Given the description of an element on the screen output the (x, y) to click on. 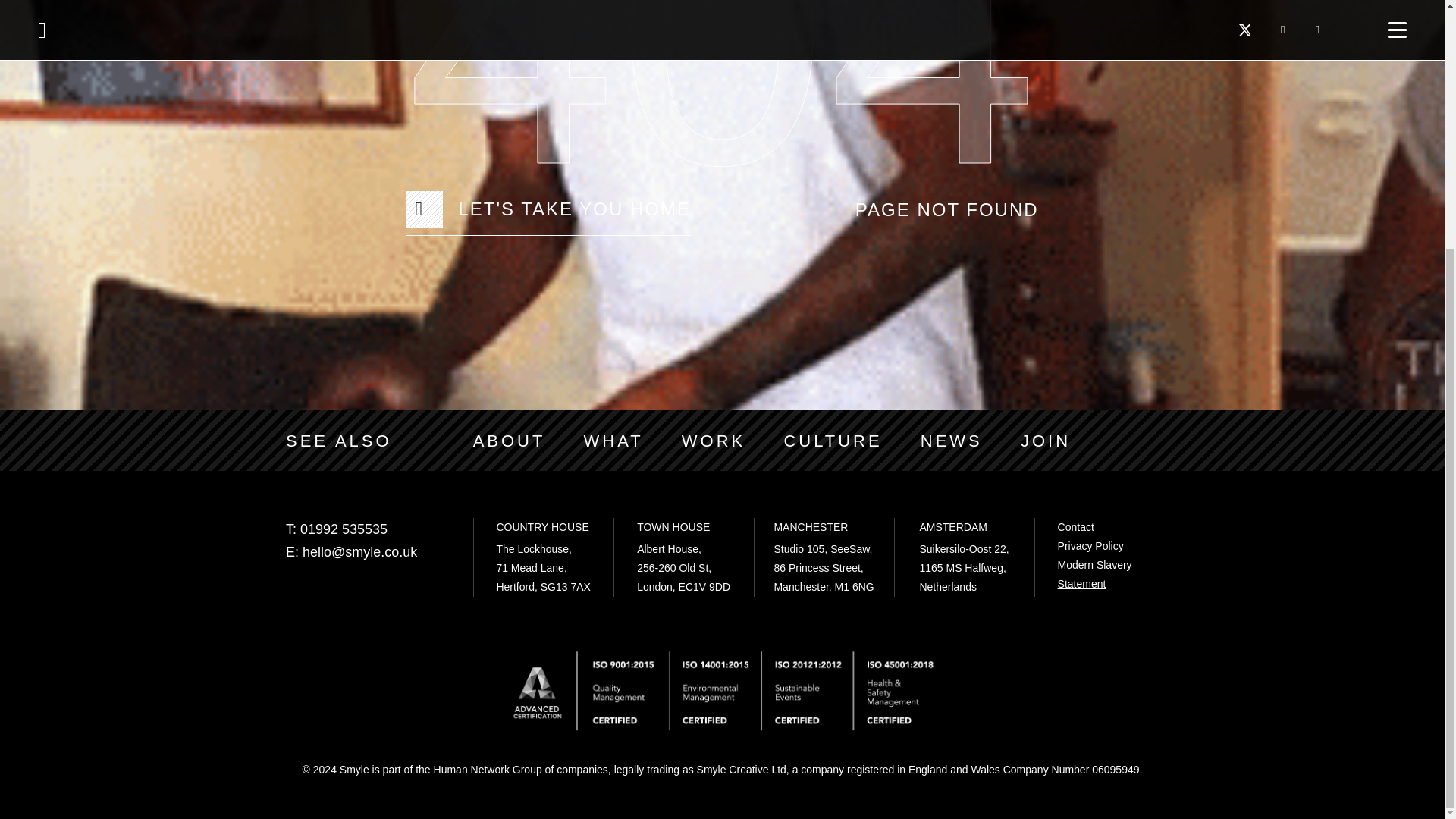
WORK (713, 440)
LET'S TAKE YOU HOME (548, 209)
JOIN (1045, 440)
CULTURE (832, 440)
Modern Slavery Statement (1095, 573)
call 01992 535535 (367, 528)
Privacy Policy (1091, 545)
ABOUT (509, 440)
T: 01992 535535 (367, 528)
NEWS (951, 440)
WHAT (613, 440)
Contact (1076, 526)
